Given the description of an element on the screen output the (x, y) to click on. 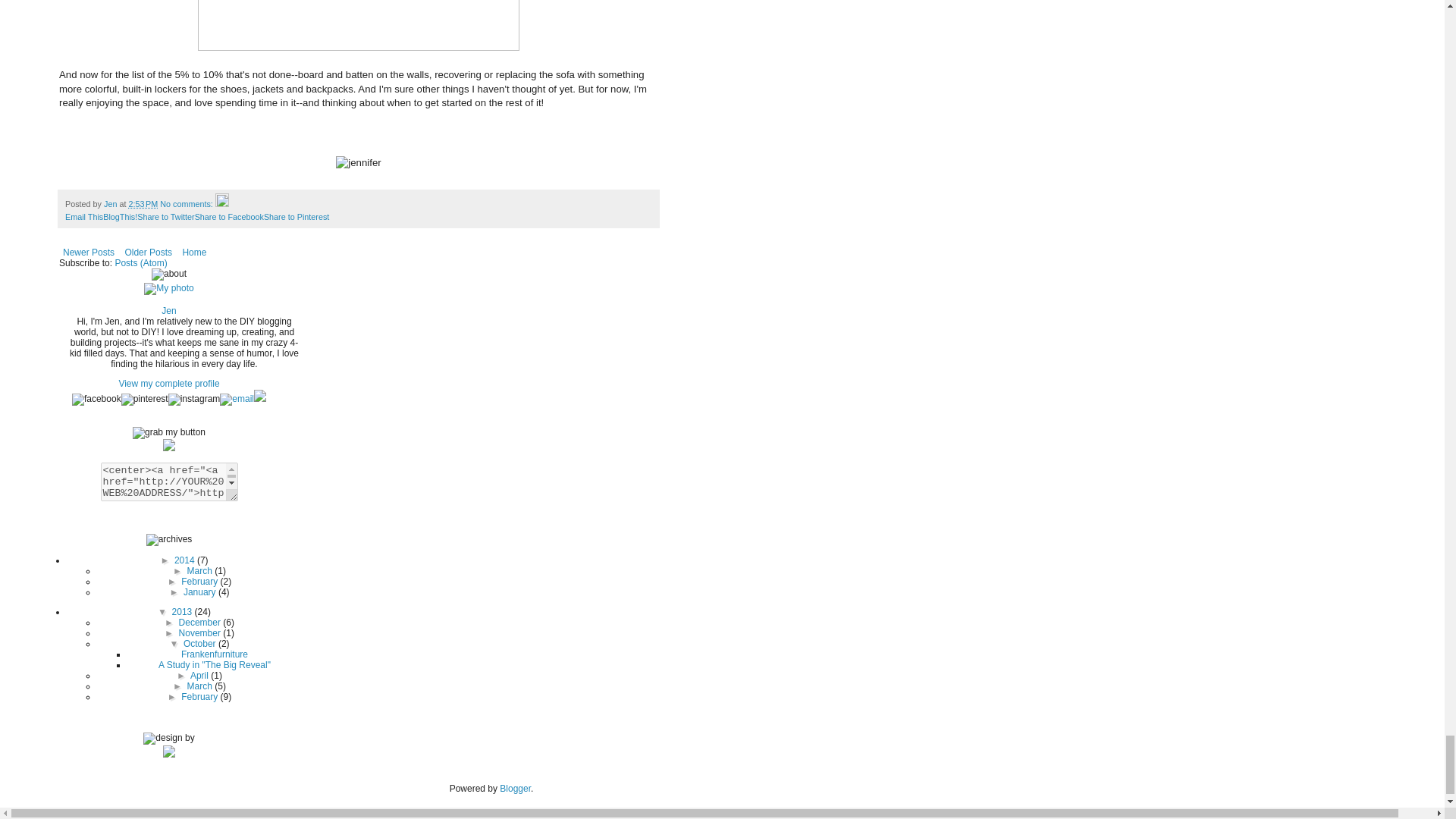
Edit Post (221, 203)
author profile (111, 203)
Share to Facebook (229, 216)
BlogThis! (119, 216)
Share to Twitter (164, 216)
Email This (84, 216)
permanent link (142, 203)
